Given the description of an element on the screen output the (x, y) to click on. 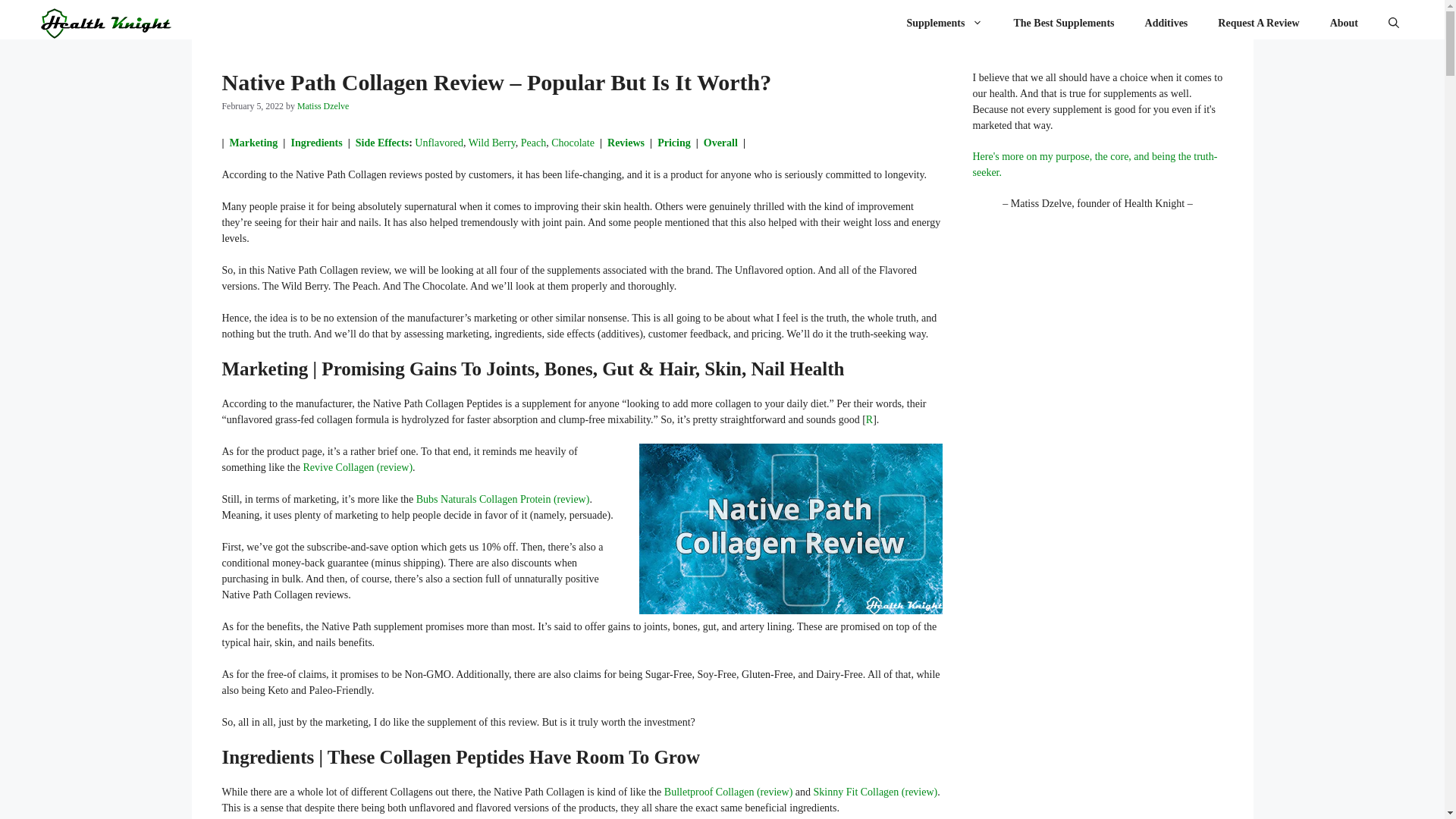
Marketing (254, 142)
Supplements (944, 23)
About (1343, 23)
View all posts by Matiss Dzelve (323, 105)
Additives (1166, 23)
Ingredients (315, 142)
Request A Review (1258, 23)
The Best Supplements (1063, 23)
Unflavored (438, 142)
Side Effects (382, 142)
Native Path Collagen Review (790, 528)
Matiss Dzelve (323, 105)
